Given the description of an element on the screen output the (x, y) to click on. 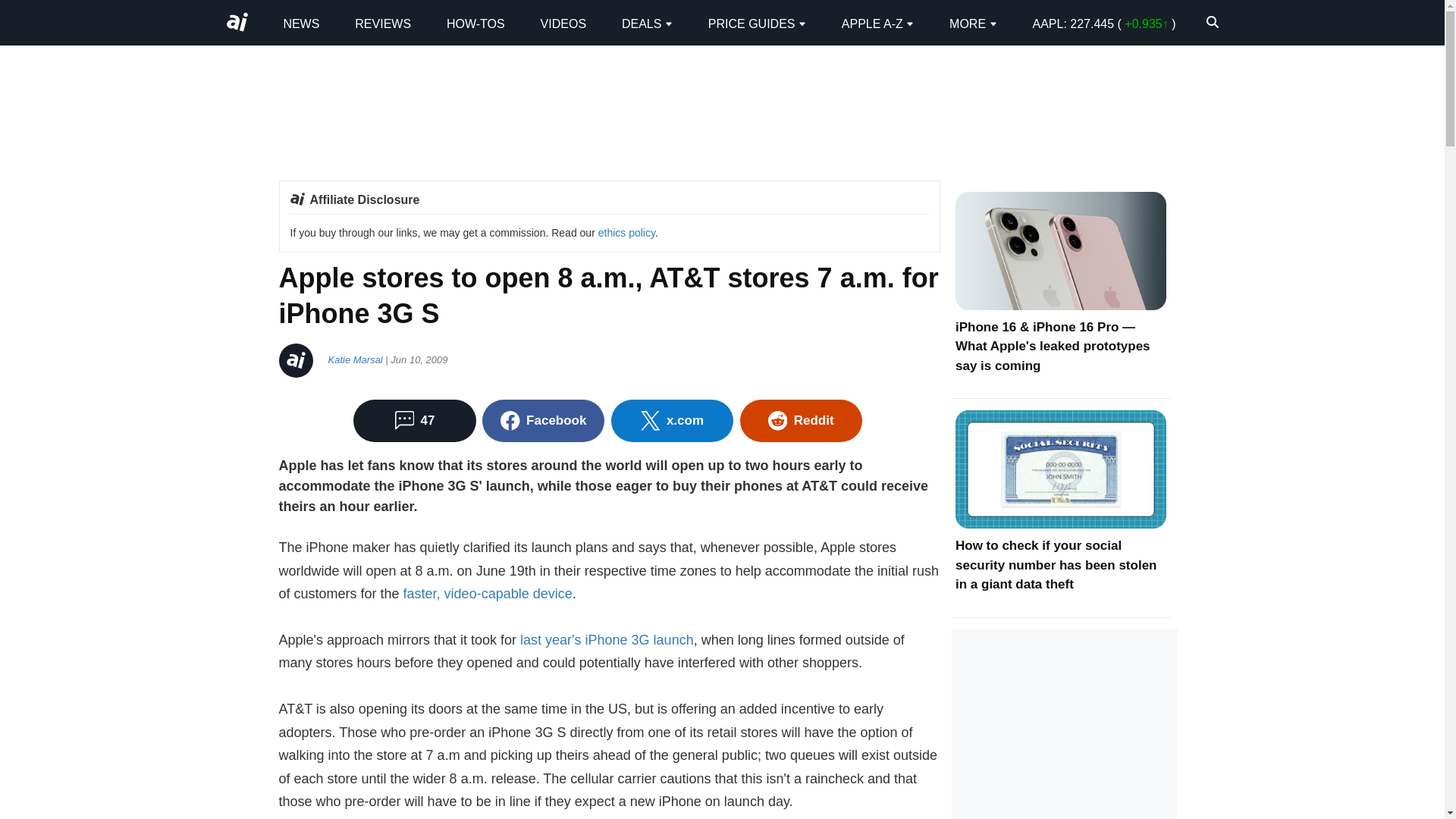
REVIEWS (382, 23)
News (300, 23)
How-Tos (475, 23)
VIDEOS (563, 23)
Reviews (382, 23)
NEWS (300, 23)
HOW-TOS (475, 23)
Videos (563, 23)
